Given the description of an element on the screen output the (x, y) to click on. 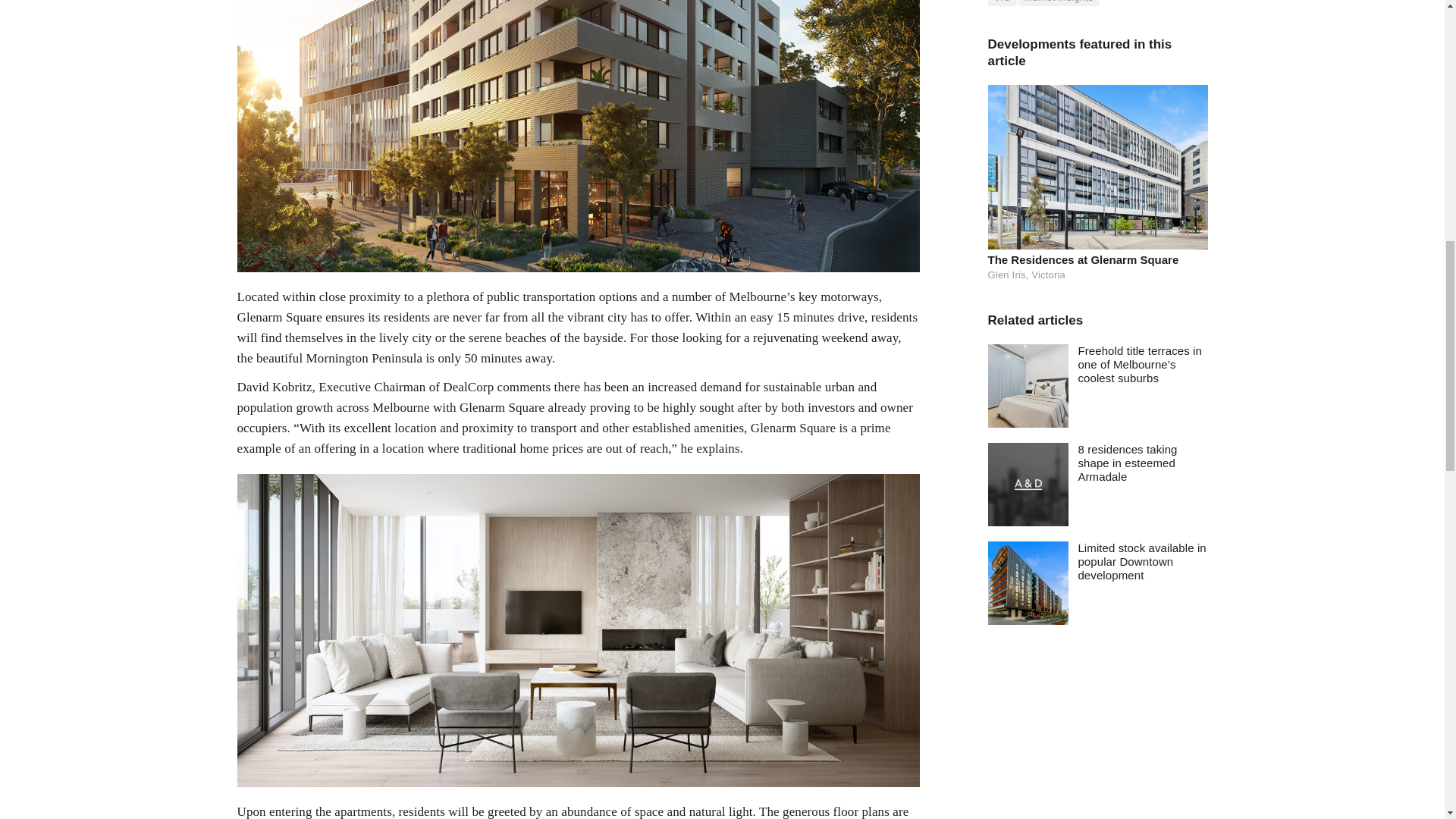
Market Insights (1058, 2)
VIC (1001, 2)
The Residences at Glenarm Square (1097, 259)
